Given the description of an element on the screen output the (x, y) to click on. 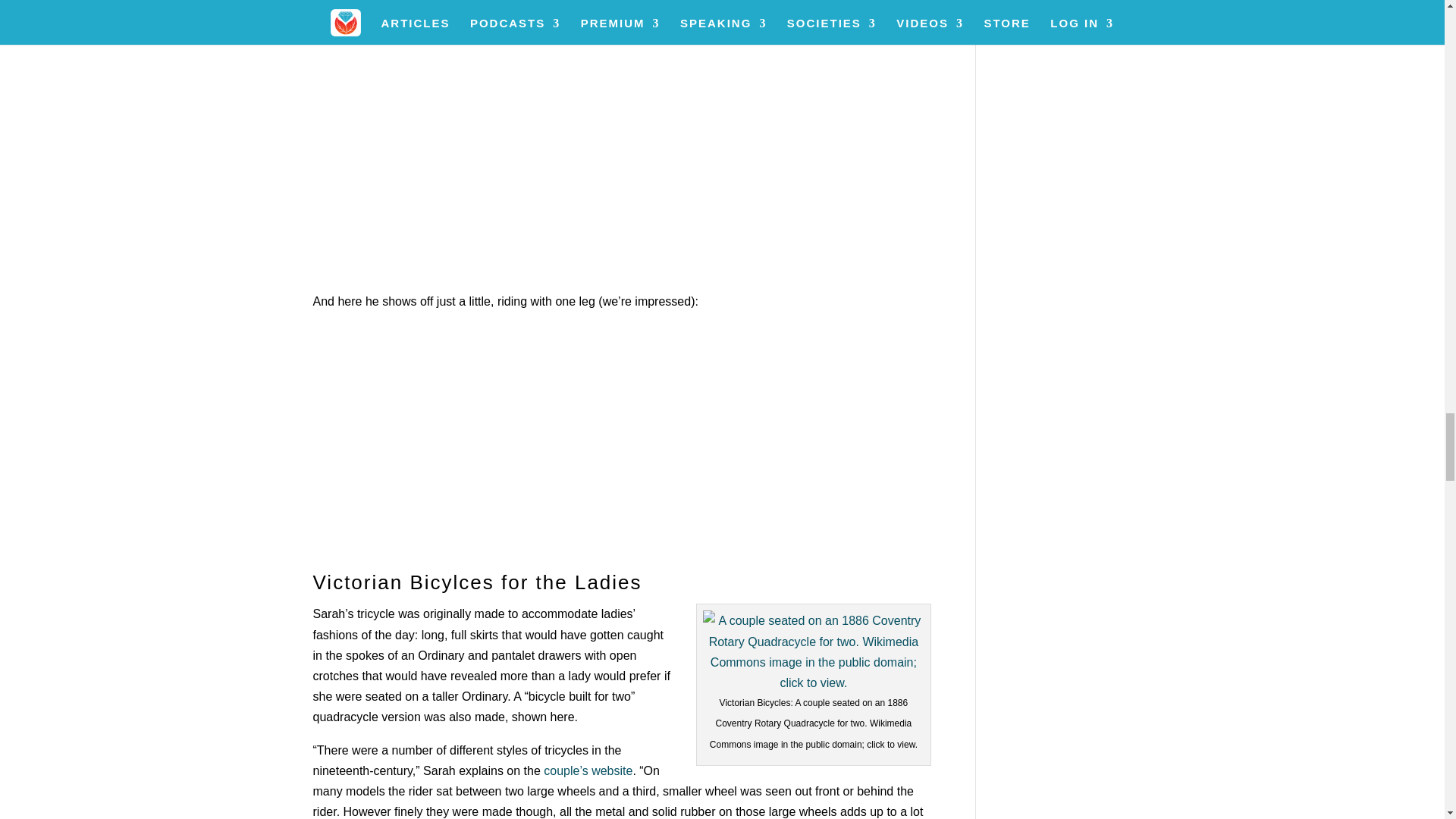
Victorian Bicycles (813, 651)
